Given the description of an element on the screen output the (x, y) to click on. 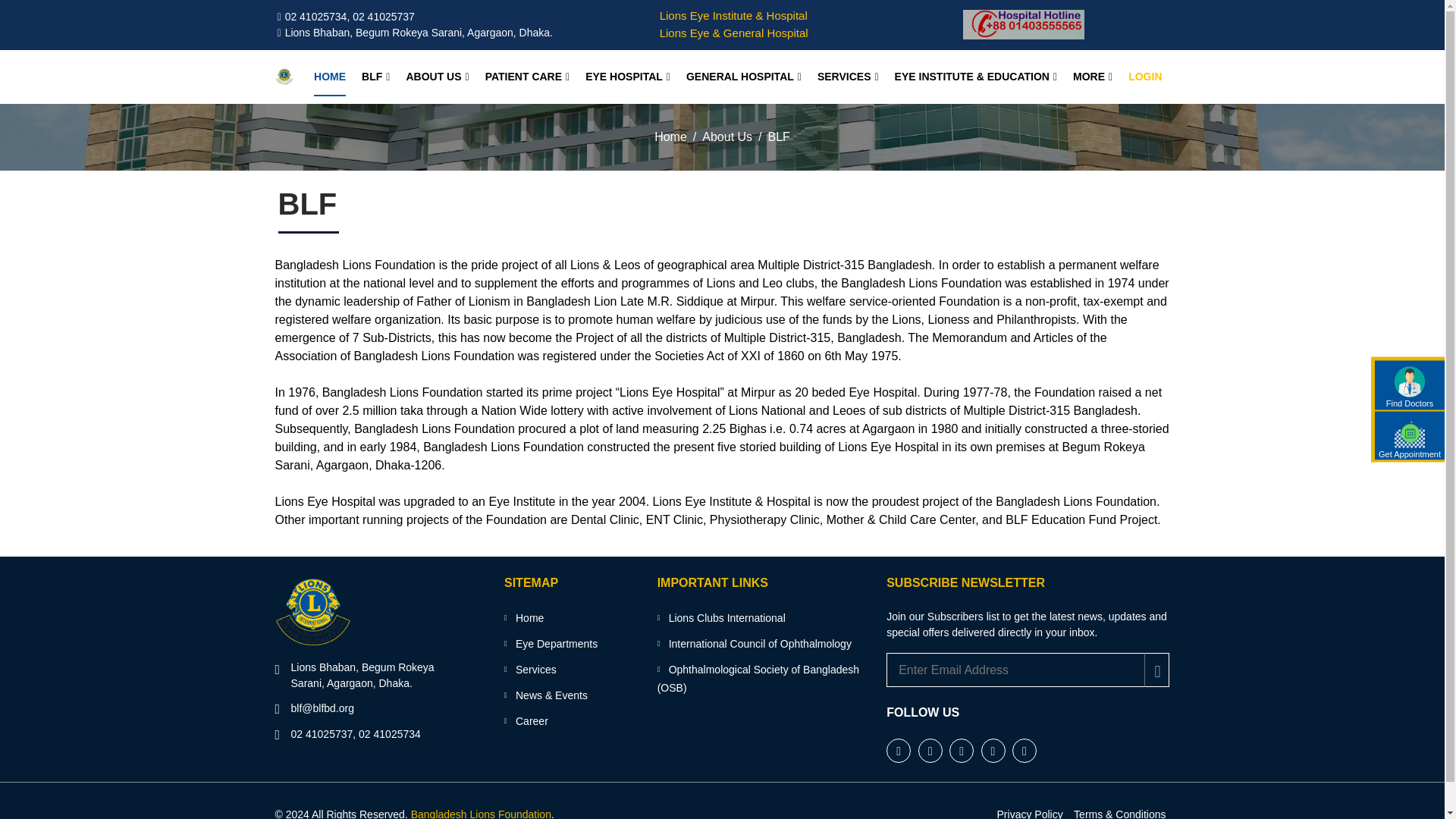
BLF (375, 76)
EYE HOSPITAL (627, 76)
Subscribe (1156, 669)
PATIENT CARE (527, 76)
ABOUT US (437, 76)
HOME (330, 76)
